Given the description of an element on the screen output the (x, y) to click on. 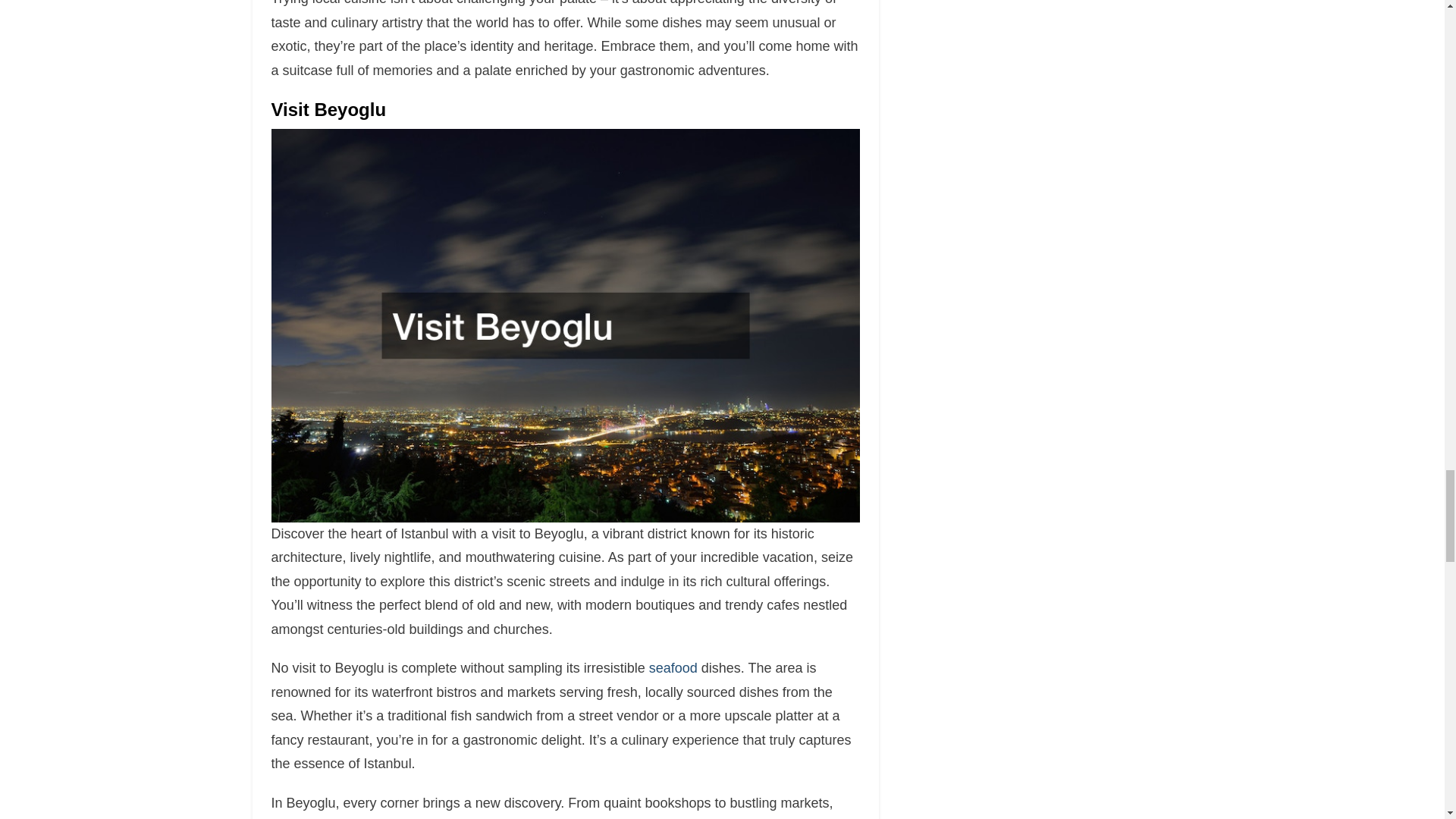
seafood (673, 667)
